Given the description of an element on the screen output the (x, y) to click on. 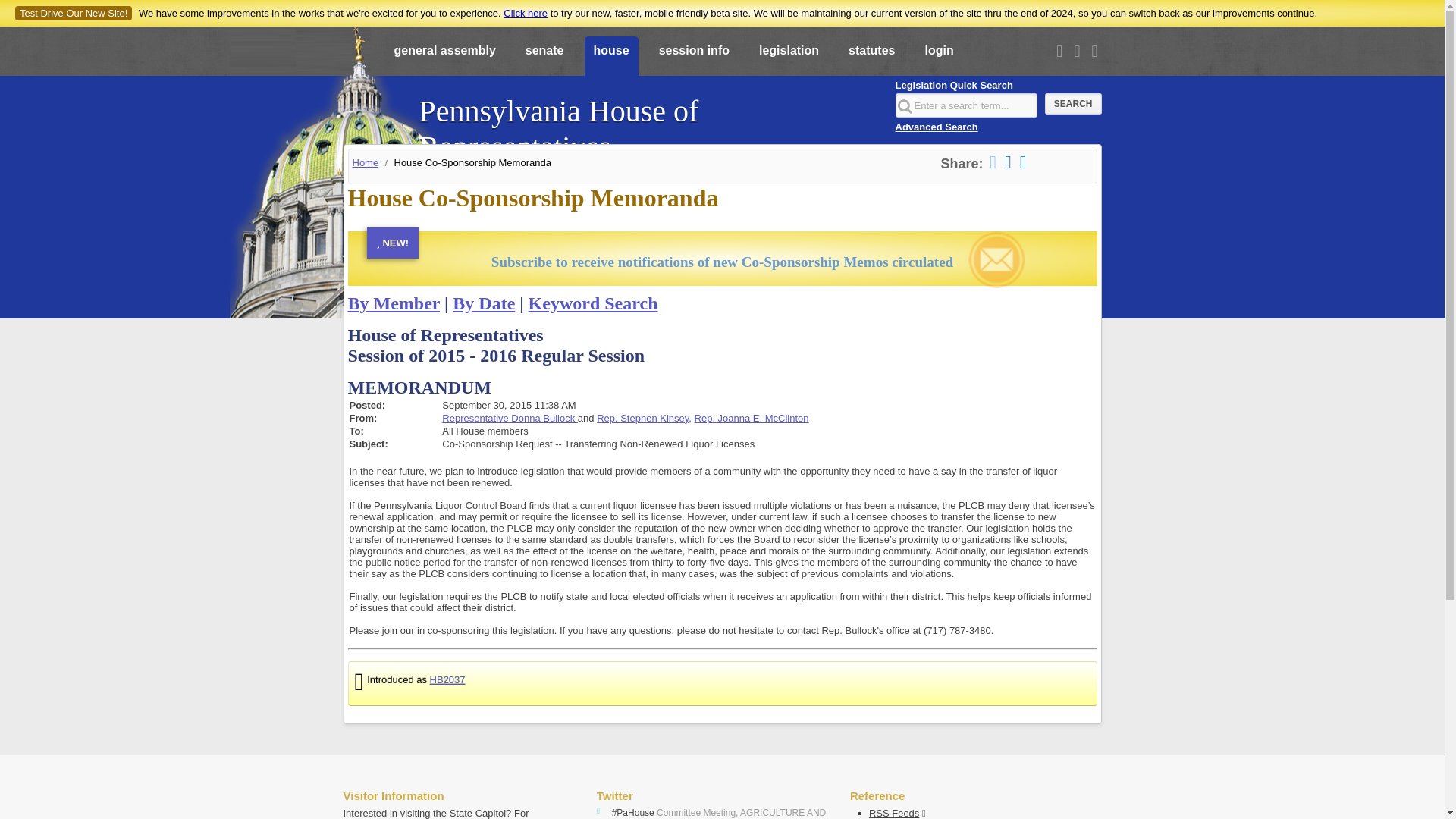
statutes (872, 57)
Search (1073, 103)
legislation (788, 57)
Click here (525, 12)
Advanced Search (935, 126)
house (610, 57)
Search (1073, 103)
senate (544, 57)
general assembly (445, 57)
Pennsylvania House of Representatives (647, 120)
session info (693, 57)
login (938, 57)
